Given the description of an element on the screen output the (x, y) to click on. 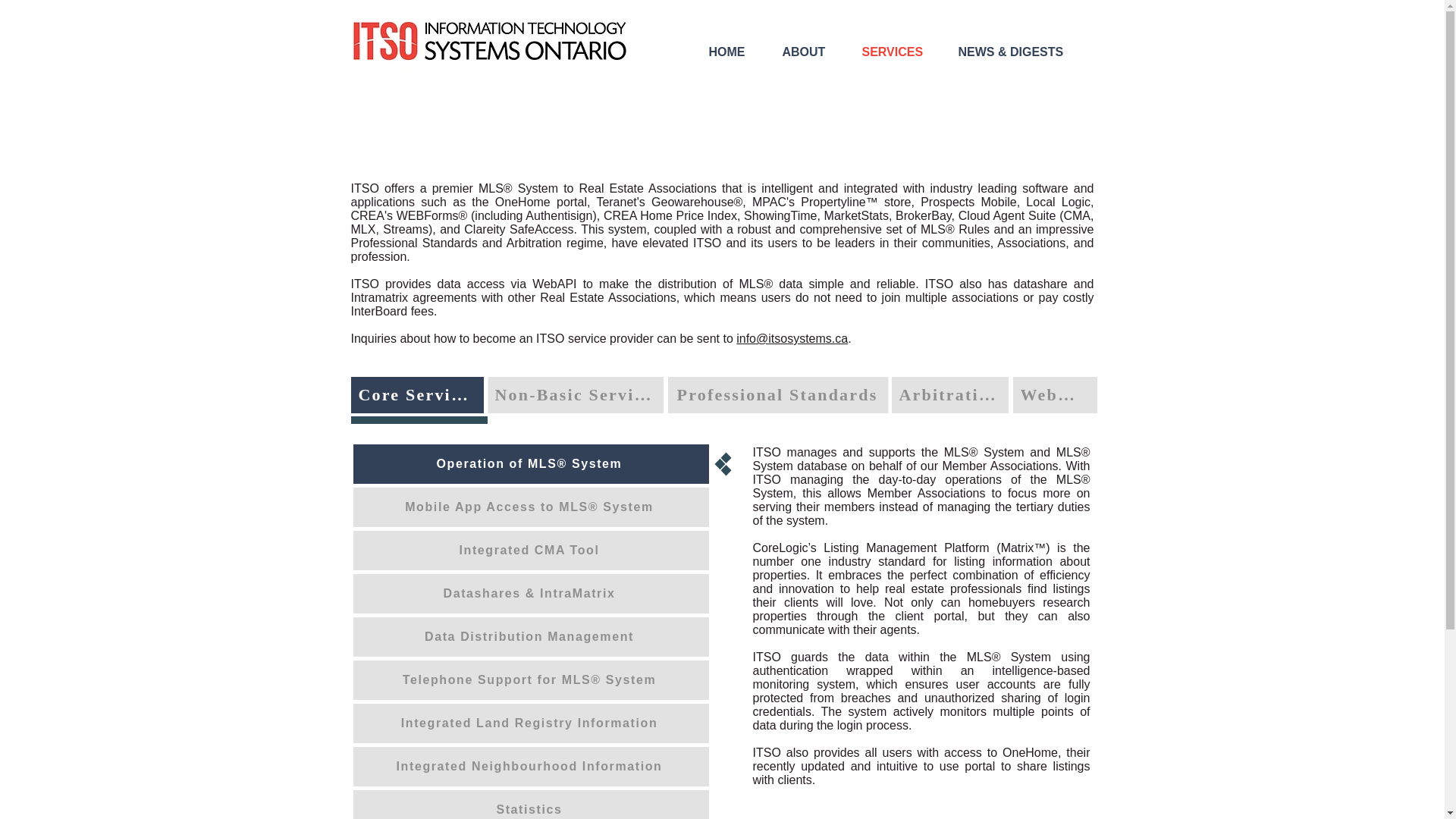
HOME (737, 51)
Integrated Land Registry Information (531, 722)
Professional Standards (777, 394)
Non-Basic Services (574, 394)
Statistics (531, 804)
Core Services (416, 394)
Data Distribution Management (531, 636)
Arbitration (950, 394)
Integrated Neighbourhood Information (531, 766)
Integrated CMA Tool (531, 550)
WebAPI (1055, 394)
SERVICES (901, 51)
